Given the description of an element on the screen output the (x, y) to click on. 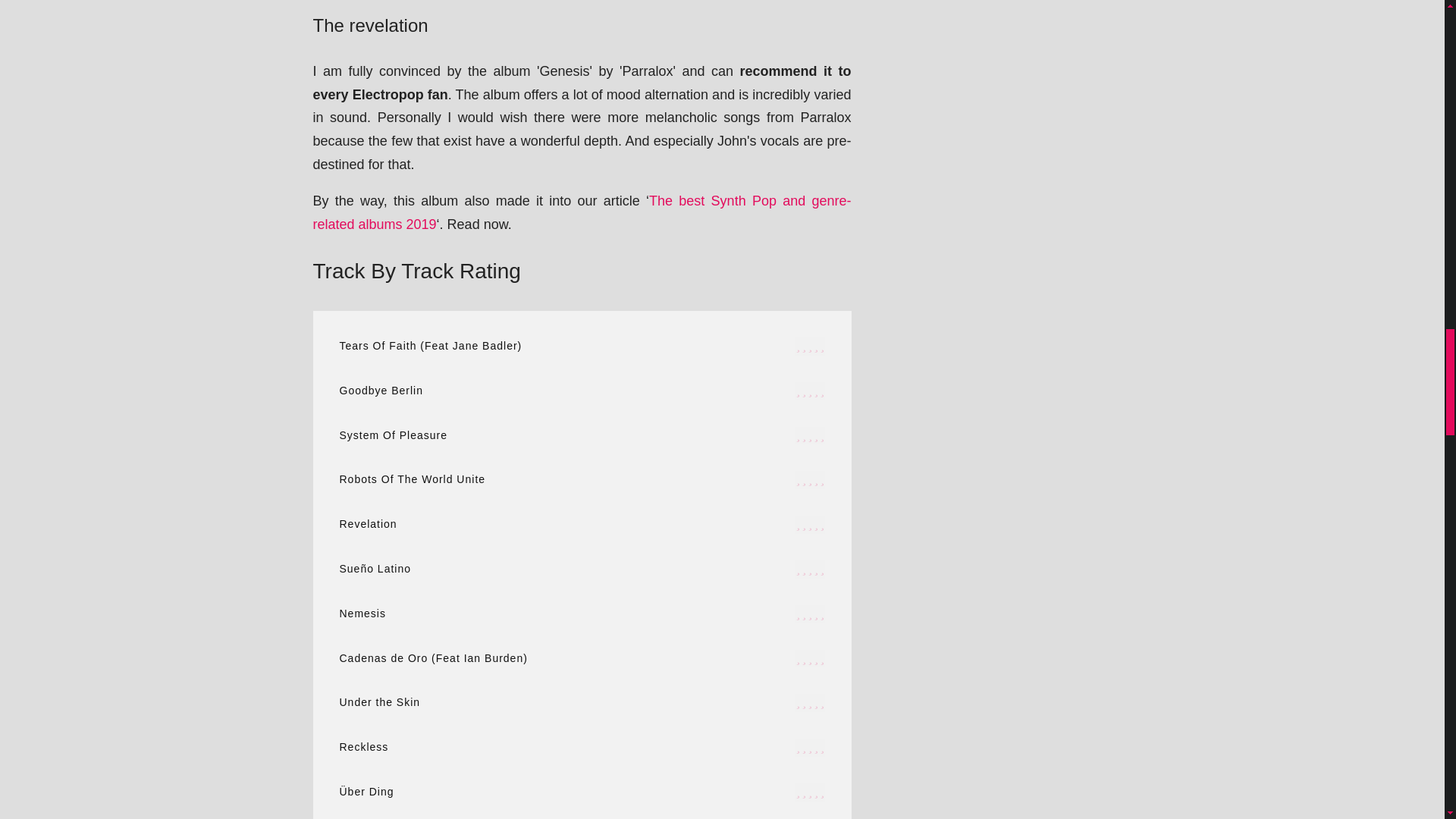
The best Synth Pop and genre-related albums 2019 (581, 212)
